Given the description of an element on the screen output the (x, y) to click on. 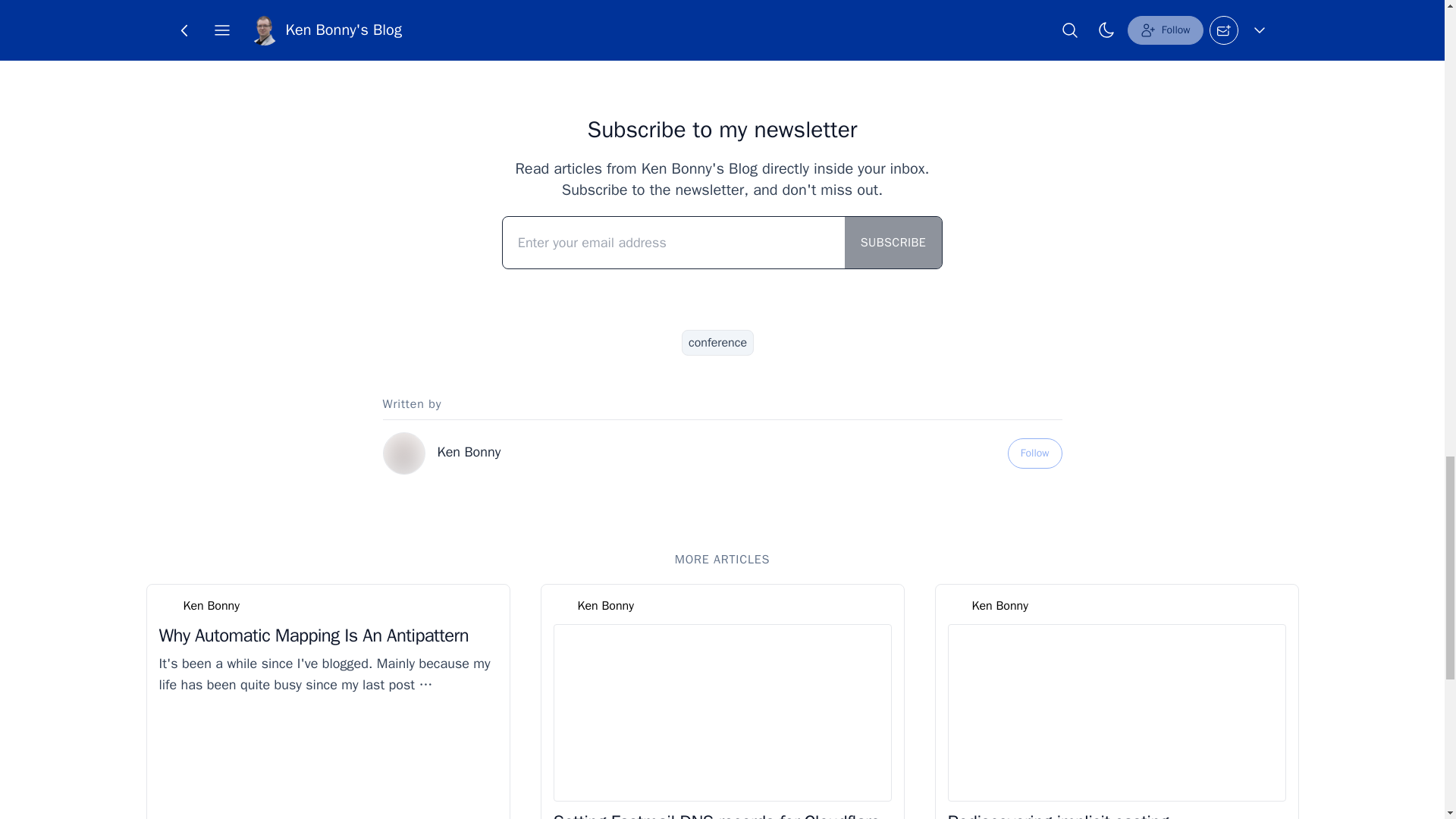
SUBSCRIBE (893, 242)
Ken Bonny (468, 451)
Follow (1034, 453)
conference (717, 342)
